Given the description of an element on the screen output the (x, y) to click on. 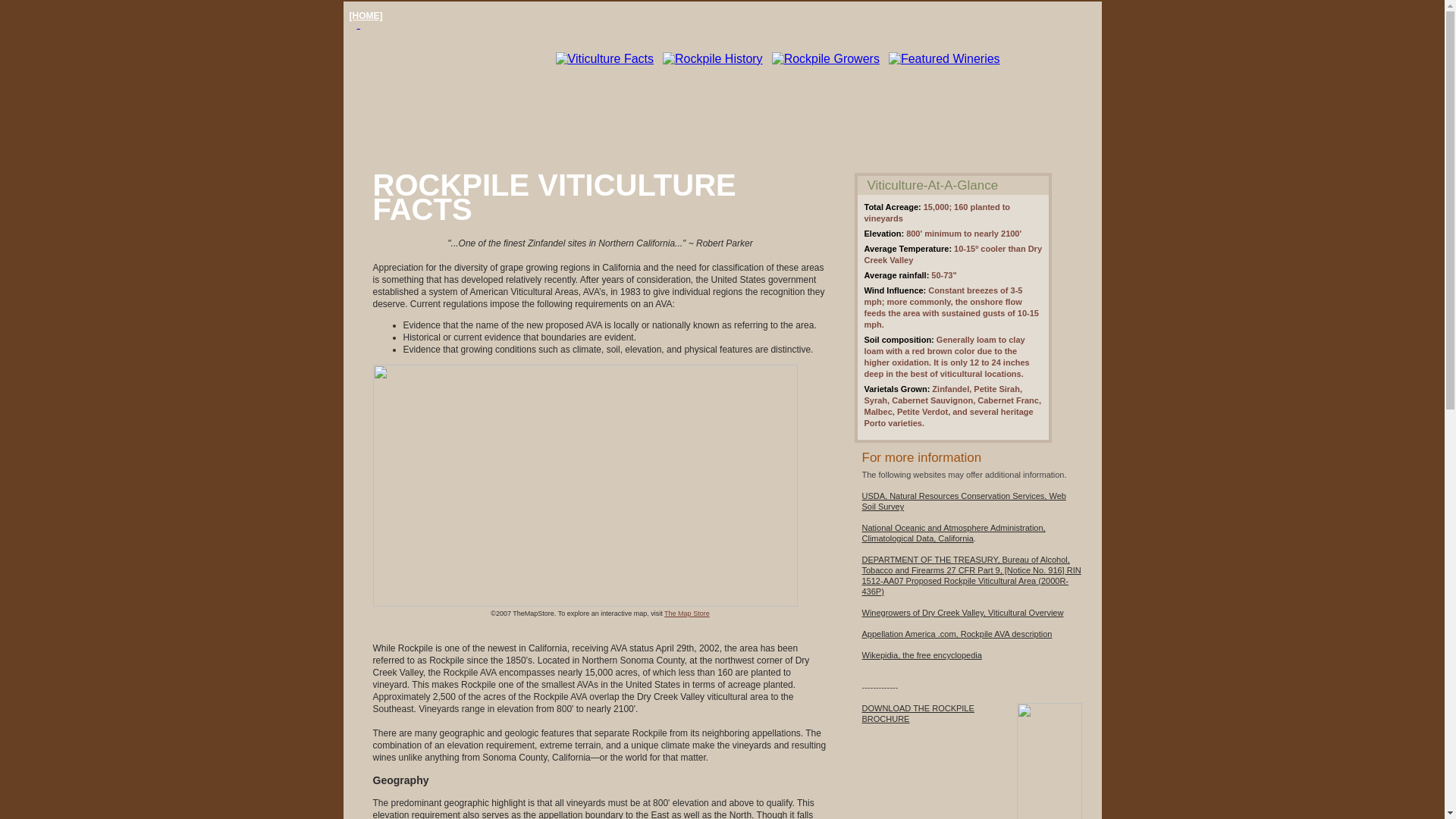
Winegrowers of Dry Creek Valley, Viticultural Overview (961, 612)
Wikepidia, the free encyclopedia (921, 655)
The Map Store (917, 713)
Appellation America .com, Rockpile AVA description (686, 613)
